Given the description of an element on the screen output the (x, y) to click on. 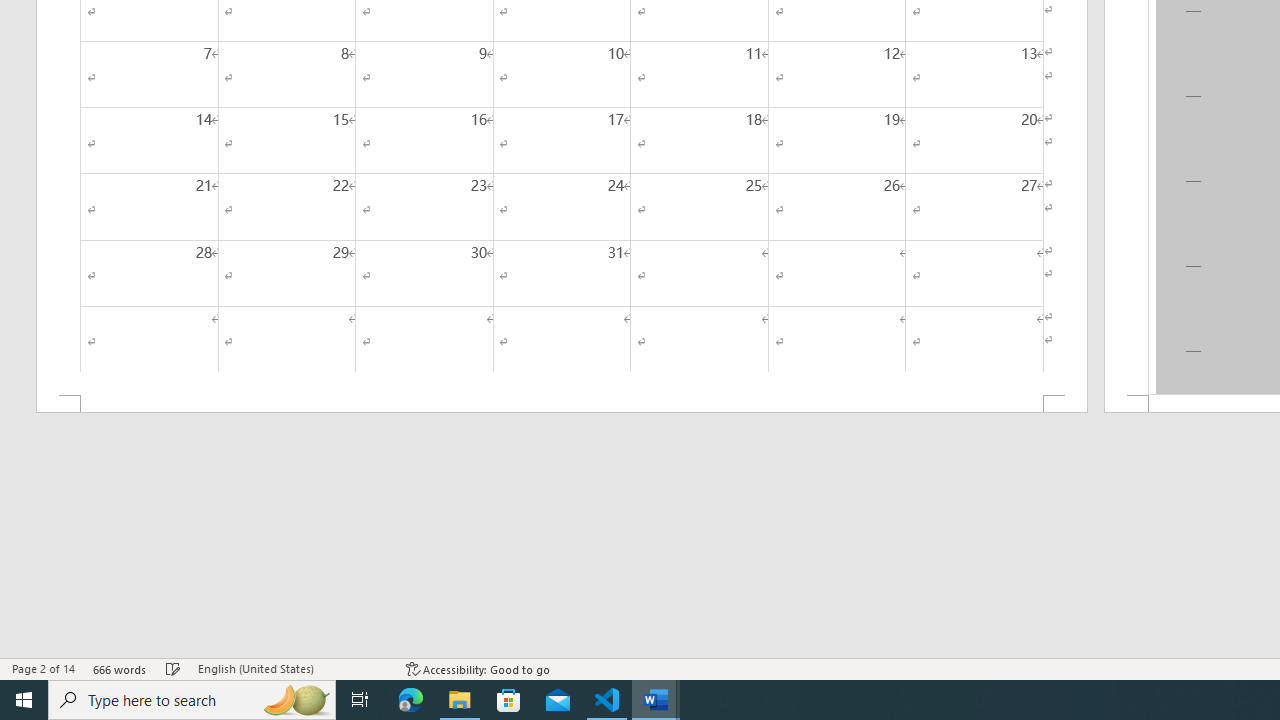
Word Count 666 words (119, 668)
Footer -Section 1- (561, 404)
Accessibility Checker Accessibility: Good to go (478, 668)
Language English (United States) (292, 668)
Page Number Page 2 of 14 (43, 668)
Spelling and Grammar Check Checking (173, 668)
